Given the description of an element on the screen output the (x, y) to click on. 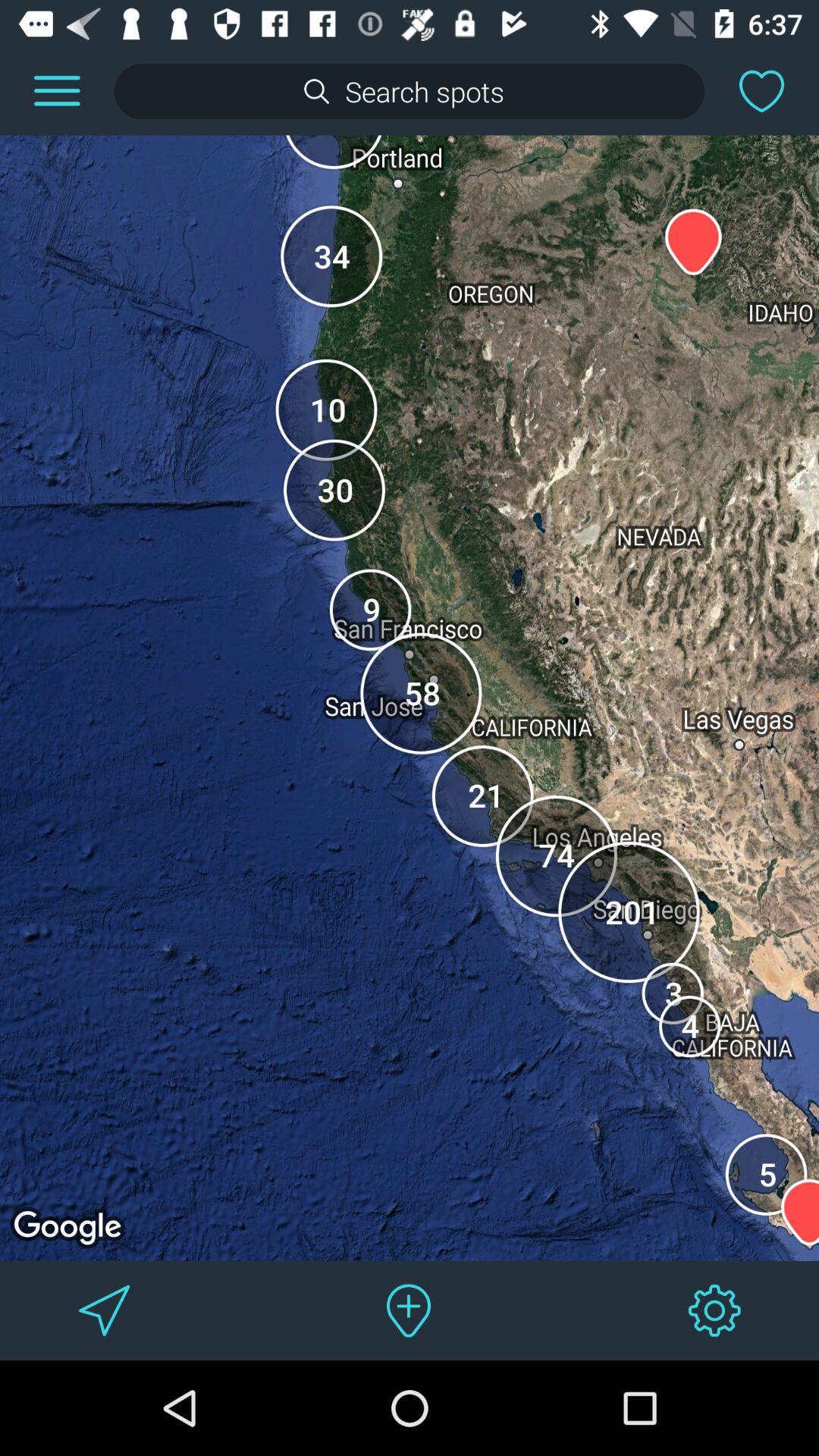
save for later (761, 91)
